Given the description of an element on the screen output the (x, y) to click on. 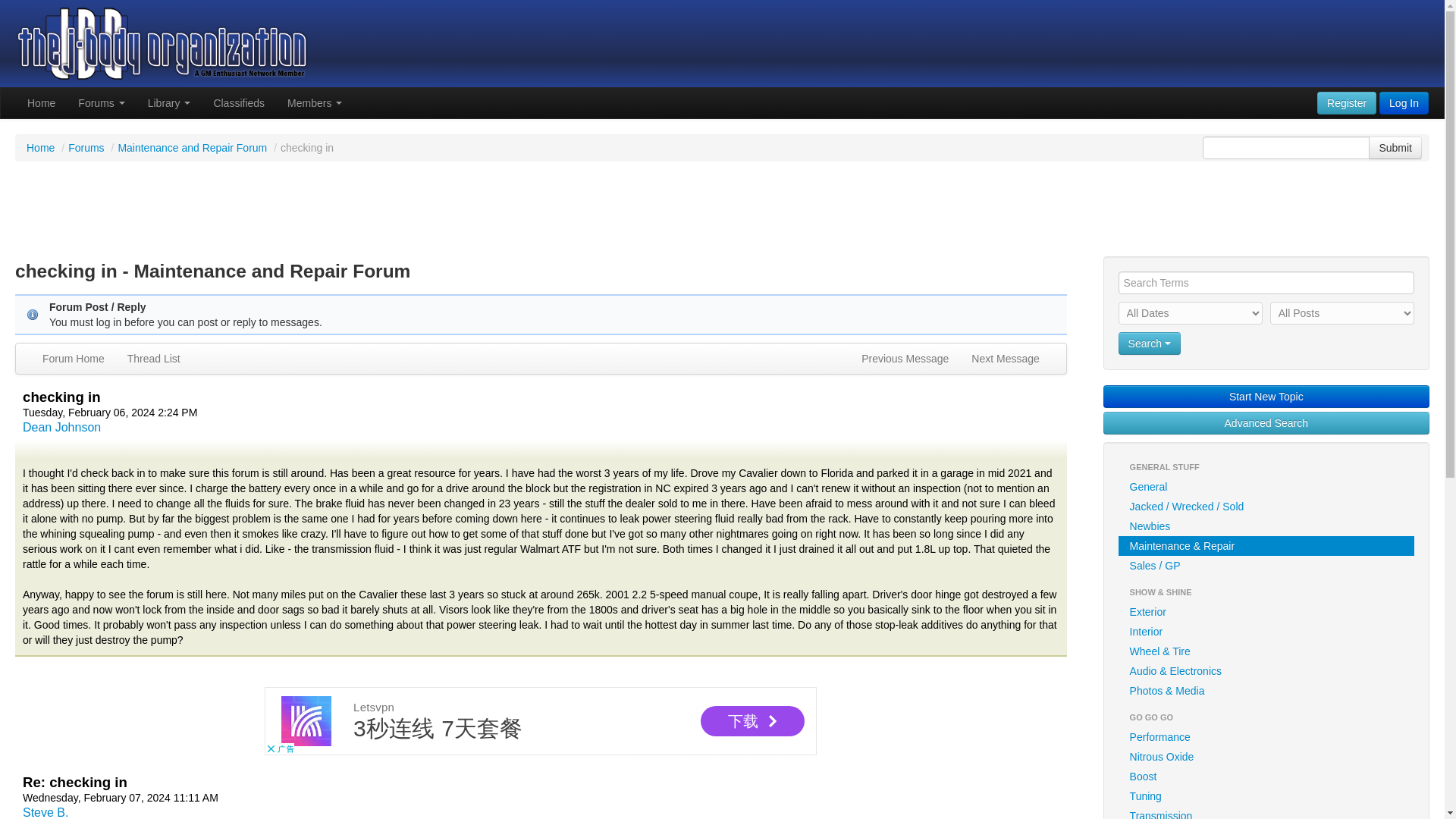
Advertisement (540, 721)
Forums (100, 102)
Home (41, 102)
Advertisement (721, 210)
